Given the description of an element on the screen output the (x, y) to click on. 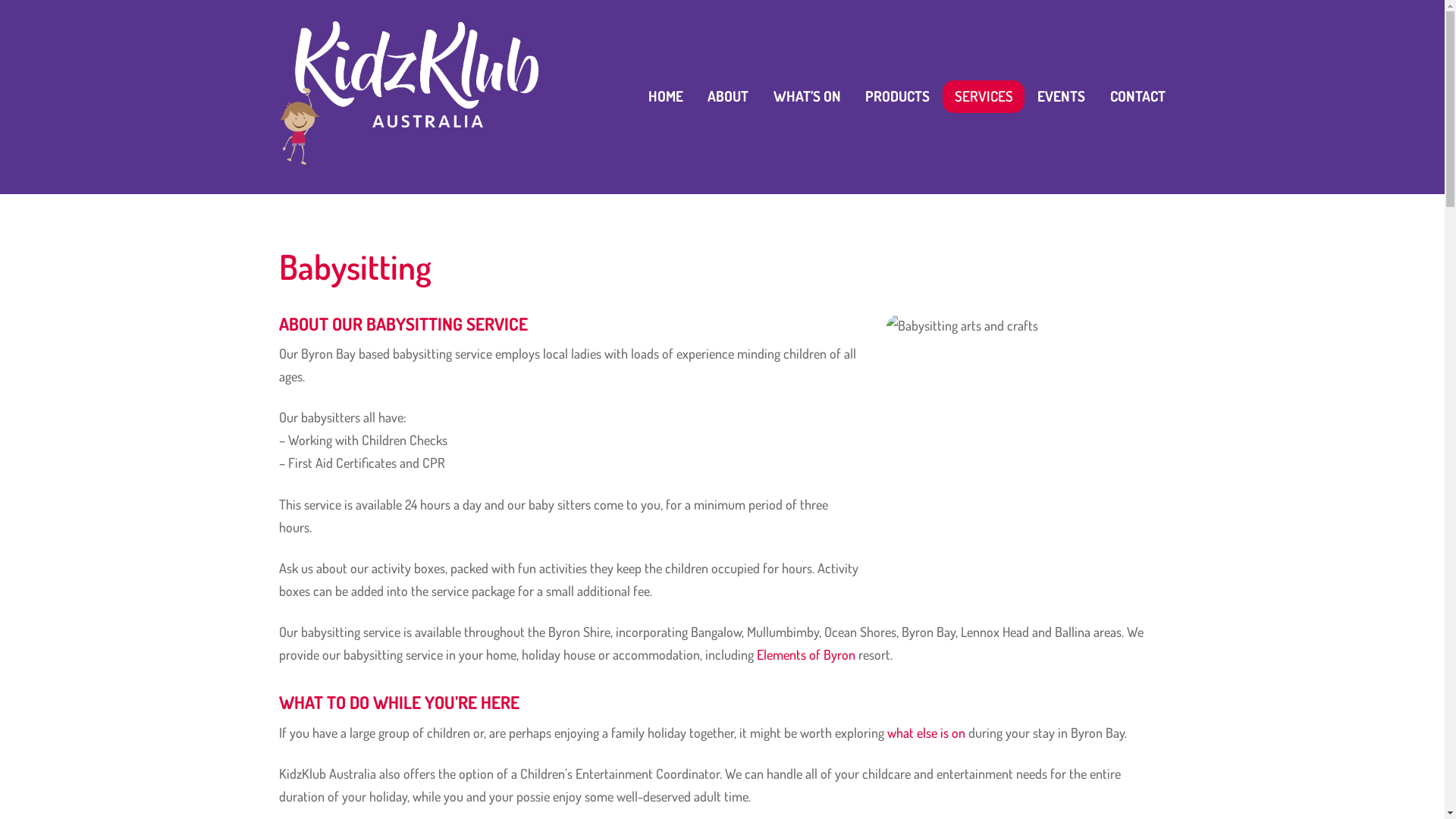
what else is on Element type: text (926, 732)
SERVICES Element type: text (982, 96)
HOME Element type: text (665, 96)
Elements of Byron Element type: text (805, 654)
ABOUT Element type: text (727, 96)
CONTACT Element type: text (1137, 96)
EVENTS Element type: text (1061, 96)
PRODUCTS Element type: text (897, 96)
